Given the description of an element on the screen output the (x, y) to click on. 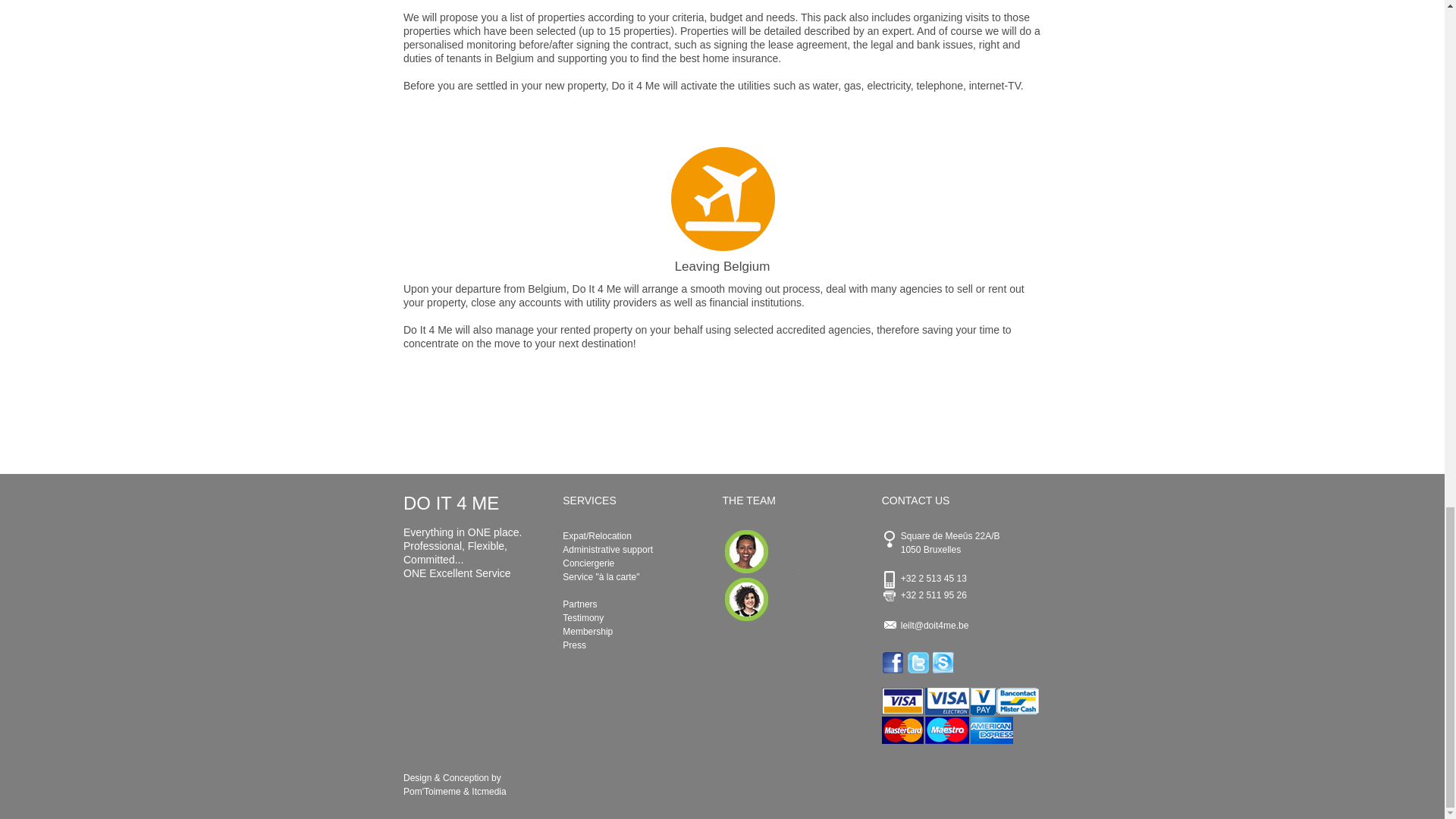
Conciergerie (588, 562)
Contact-us with Skype (943, 662)
Contact-us with Skype (943, 662)
Partners (579, 603)
Join us on Twitter (919, 662)
We accept (961, 708)
Join us on Facebook (894, 662)
Itcmedia (488, 791)
Press (574, 644)
Administrative support (607, 549)
Pom'Toimeme (432, 791)
Join us on Twitter (919, 662)
Testimony (583, 617)
Join us on Facebook (894, 662)
Membership (587, 631)
